Given the description of an element on the screen output the (x, y) to click on. 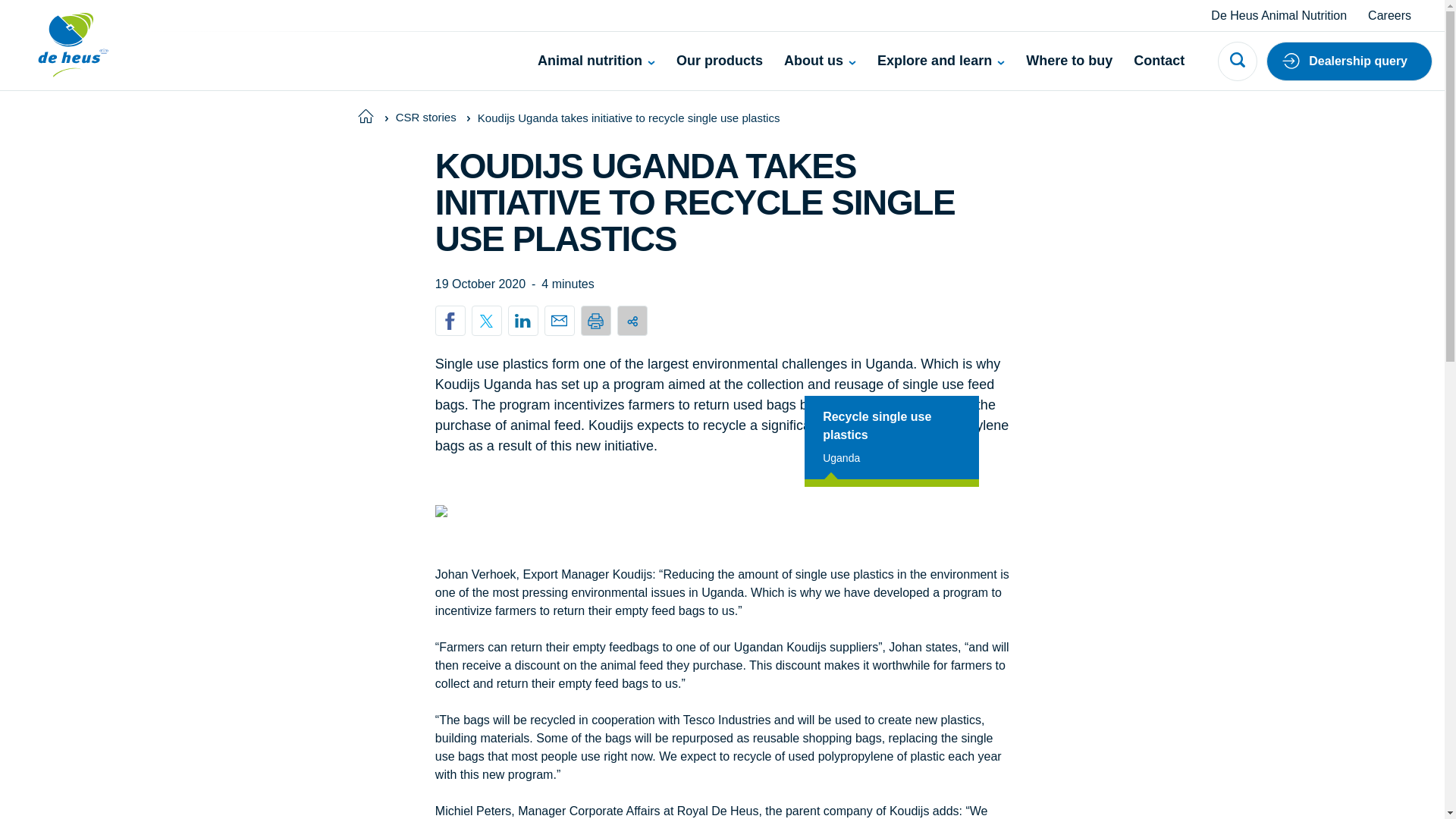
Explore and learn (940, 60)
De Heus Animal Nutrition (1278, 15)
About us (820, 60)
Animal nutrition (596, 60)
Our products (719, 60)
Careers (1389, 15)
